Given the description of an element on the screen output the (x, y) to click on. 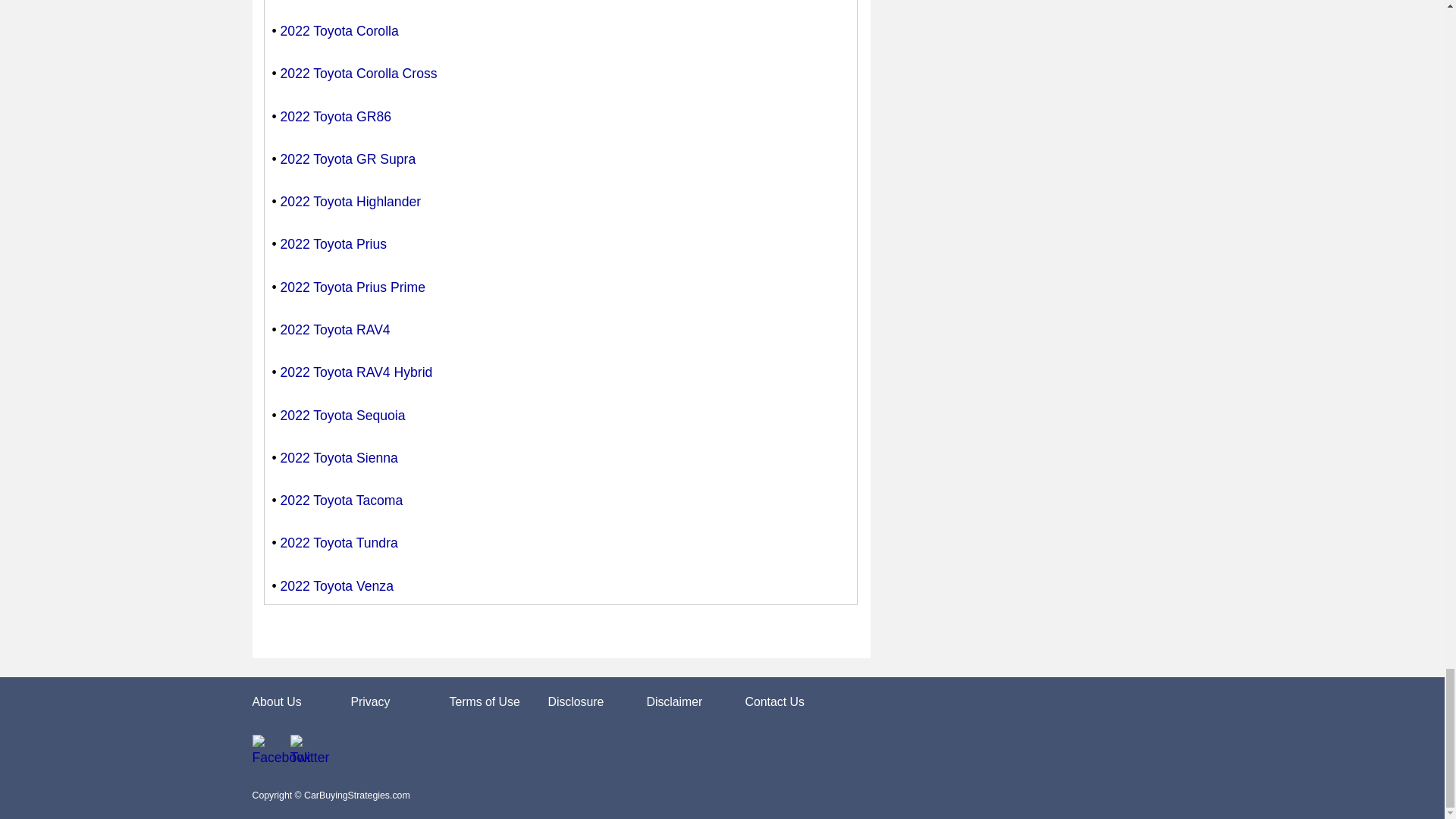
2022 Toyota RAV4 (335, 329)
Privacy (370, 701)
2022 Toyota Sequoia (343, 415)
About Us (276, 701)
2022 Toyota Tundra (339, 542)
2022 Toyota GR Supra (348, 159)
Disclosure (575, 701)
2022 Toyota Highlander (351, 201)
2022 Toyota Corolla (339, 30)
2022 Toyota Prius Prime (353, 287)
2022 Toyota GR86 (336, 116)
2022 Toyota RAV4 Hybrid (356, 372)
2022 Toyota Corolla Cross (359, 73)
2022 Toyota Venza (337, 585)
Terms of Use (483, 701)
